Given the description of an element on the screen output the (x, y) to click on. 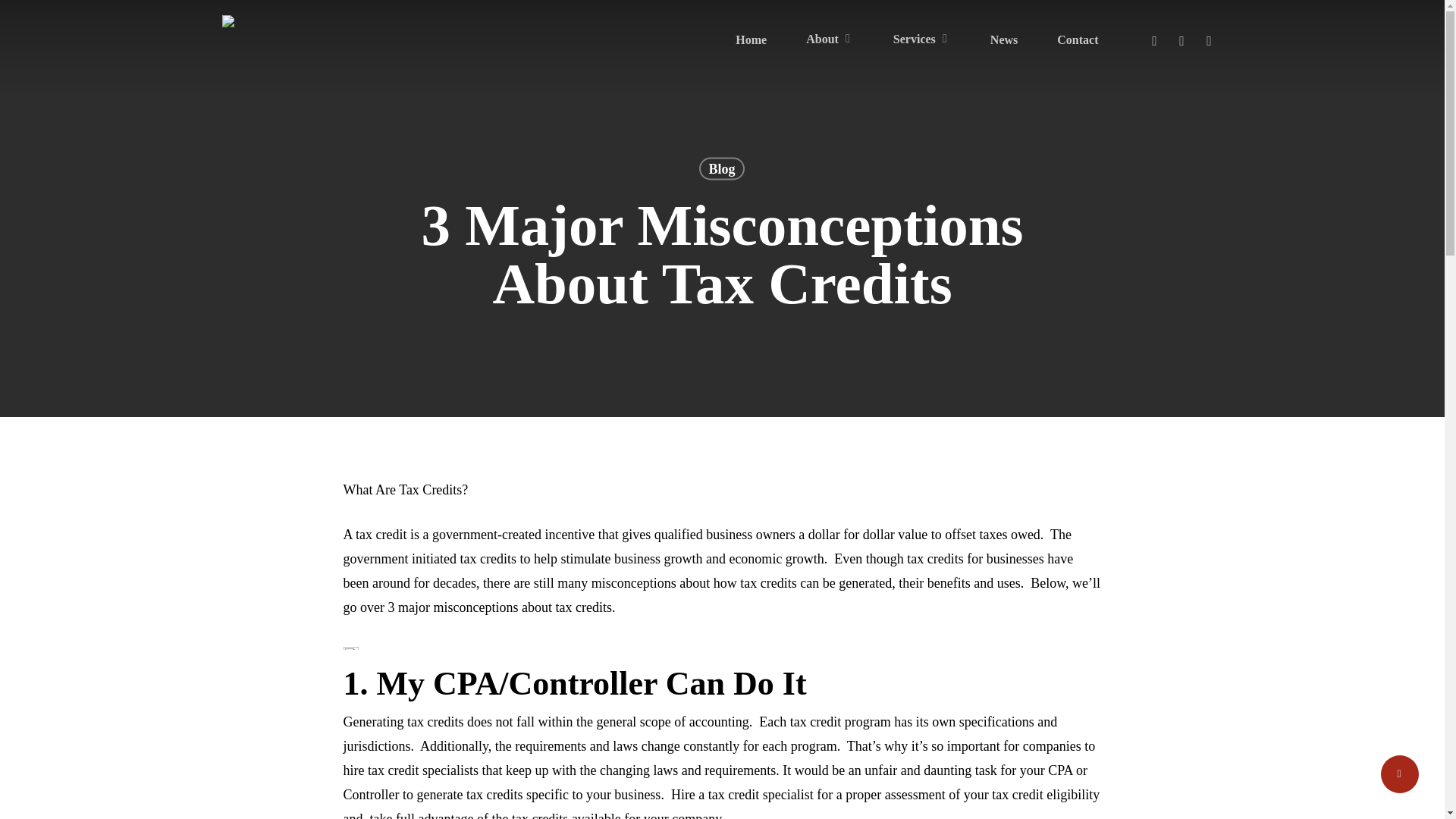
facebook (1181, 39)
Blog (721, 179)
Contact (1077, 39)
Services (921, 39)
About (829, 39)
Home (751, 39)
instagram (1209, 39)
News (1003, 39)
twitter (1153, 39)
